Given the description of an element on the screen output the (x, y) to click on. 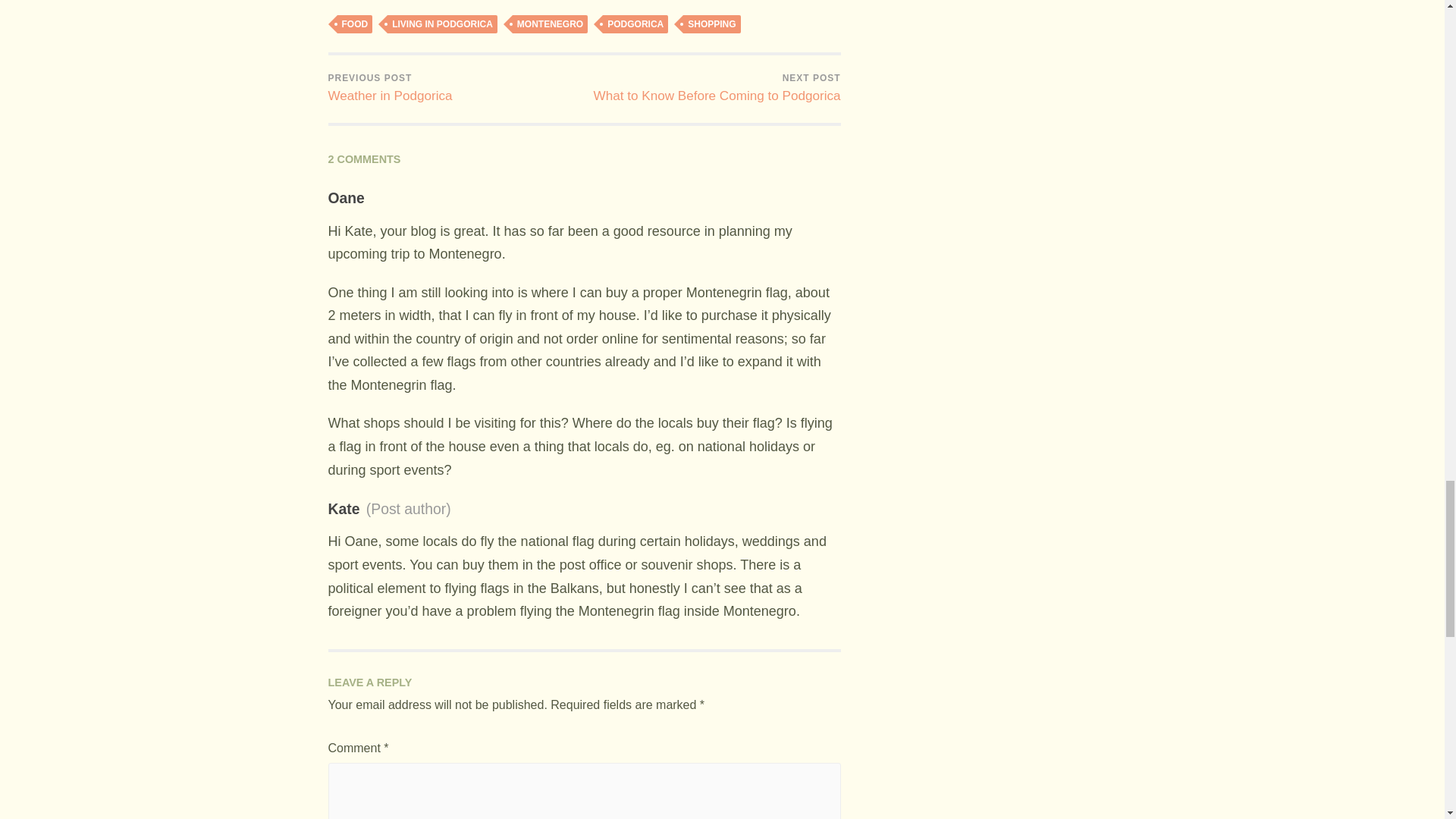
PODGORICA (389, 88)
SHOPPING (635, 24)
FOOD (710, 24)
MONTENEGRO (717, 88)
LIVING IN PODGORICA (354, 24)
